Given the description of an element on the screen output the (x, y) to click on. 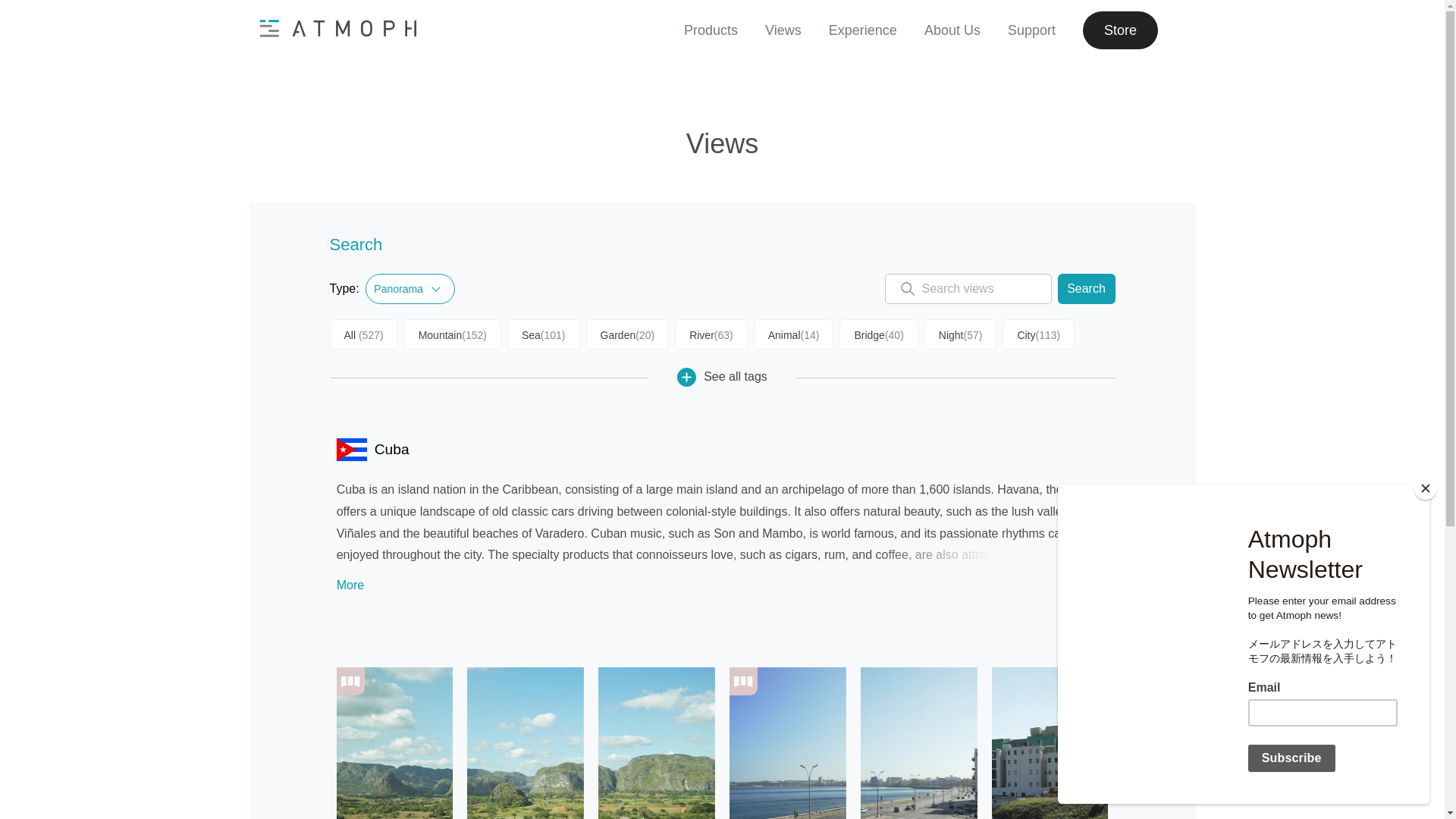
Store (1119, 30)
Support (1030, 29)
Experience (862, 29)
Views (783, 29)
Products (711, 29)
About Us (951, 29)
